Given the description of an element on the screen output the (x, y) to click on. 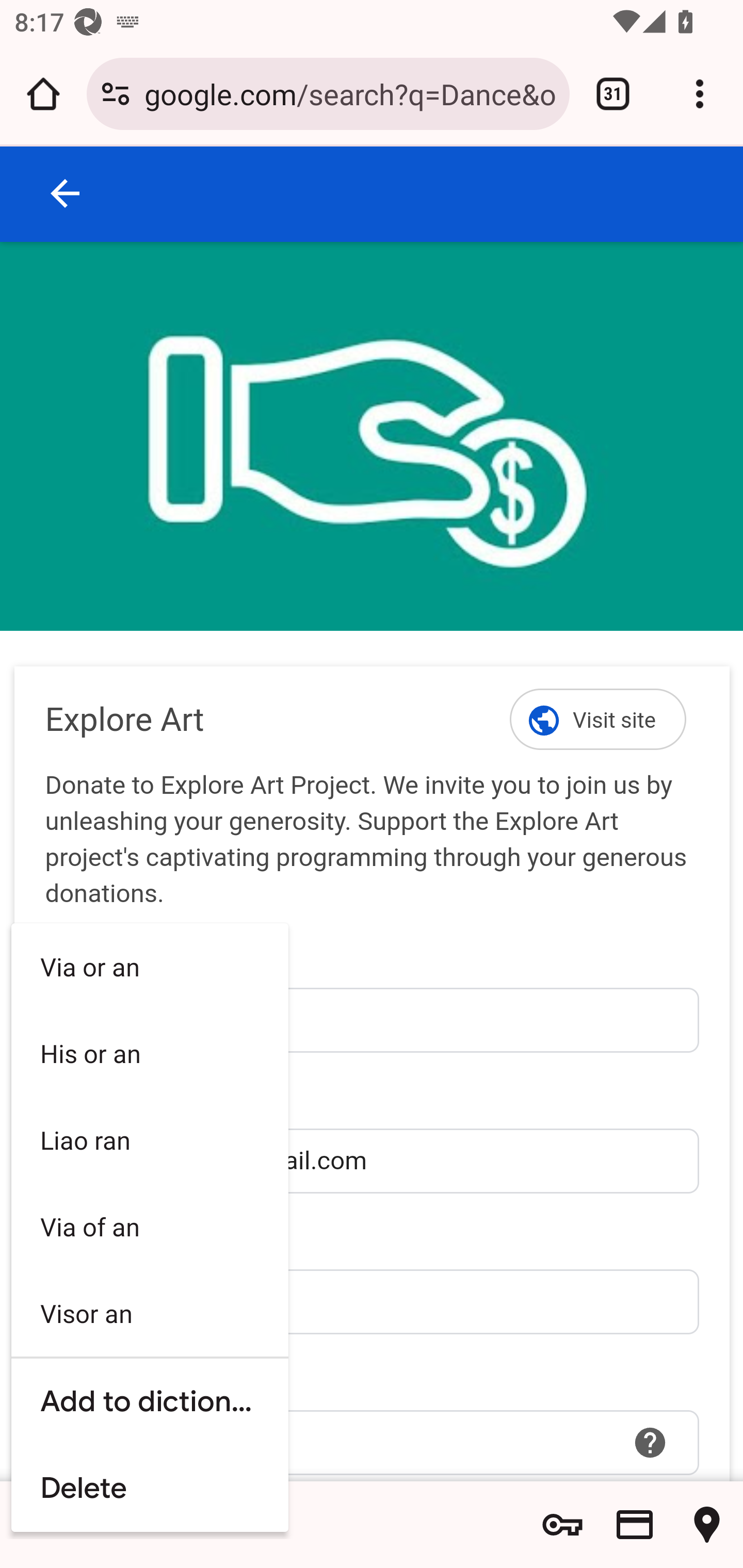
Via or an (149, 966)
His or an (149, 1052)
Liao ran (149, 1139)
Via of an (149, 1226)
Visor an (149, 1313)
Add to dictionary (149, 1401)
Delete (149, 1488)
